Given the description of an element on the screen output the (x, y) to click on. 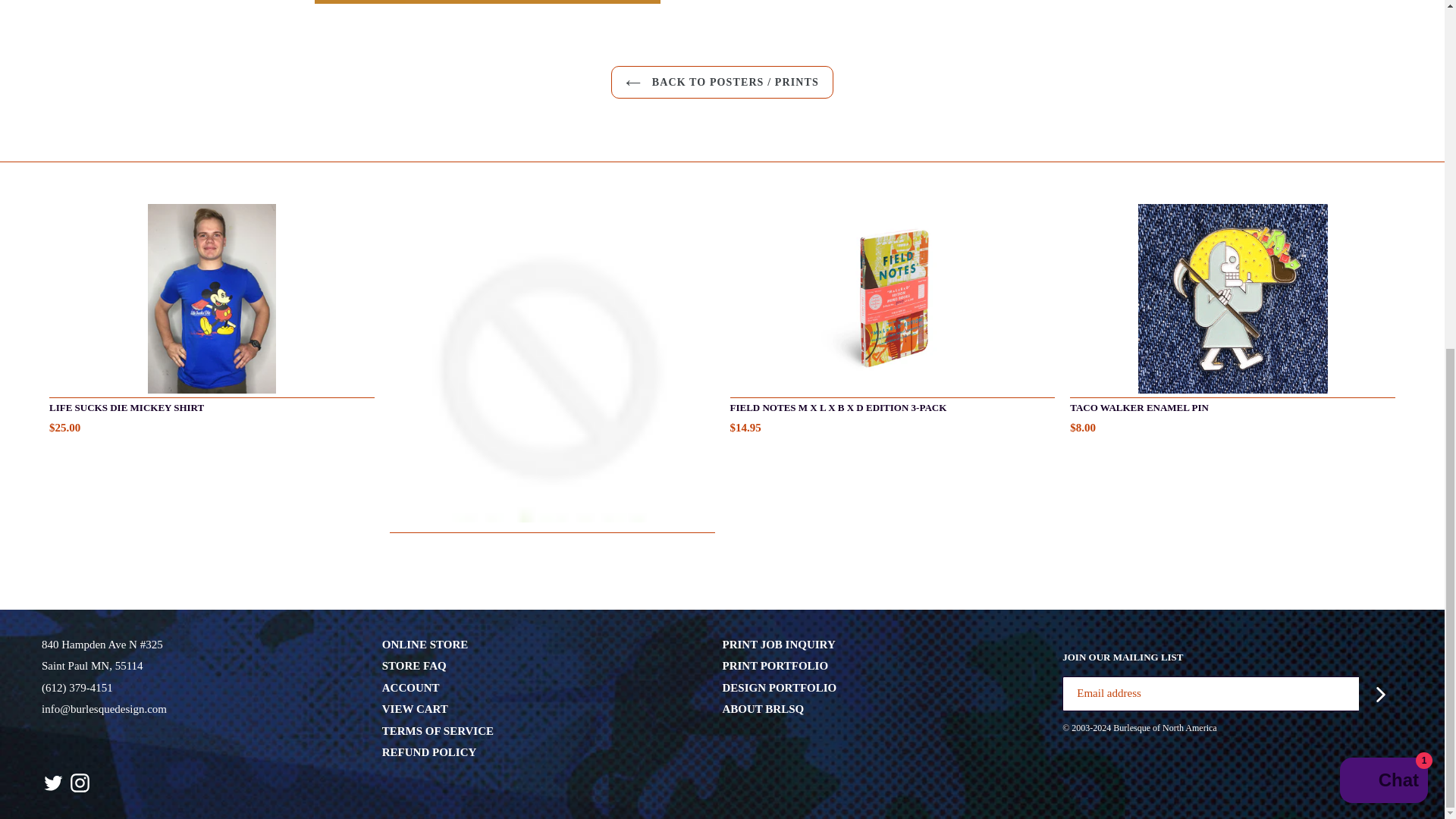
Burlesque of North America on Twitter (53, 782)
STORE FAQ (413, 665)
Burlesque of North America on Instagram (79, 782)
ONLINE STORE (424, 644)
Shopify online store chat (1383, 179)
